Given the description of an element on the screen output the (x, y) to click on. 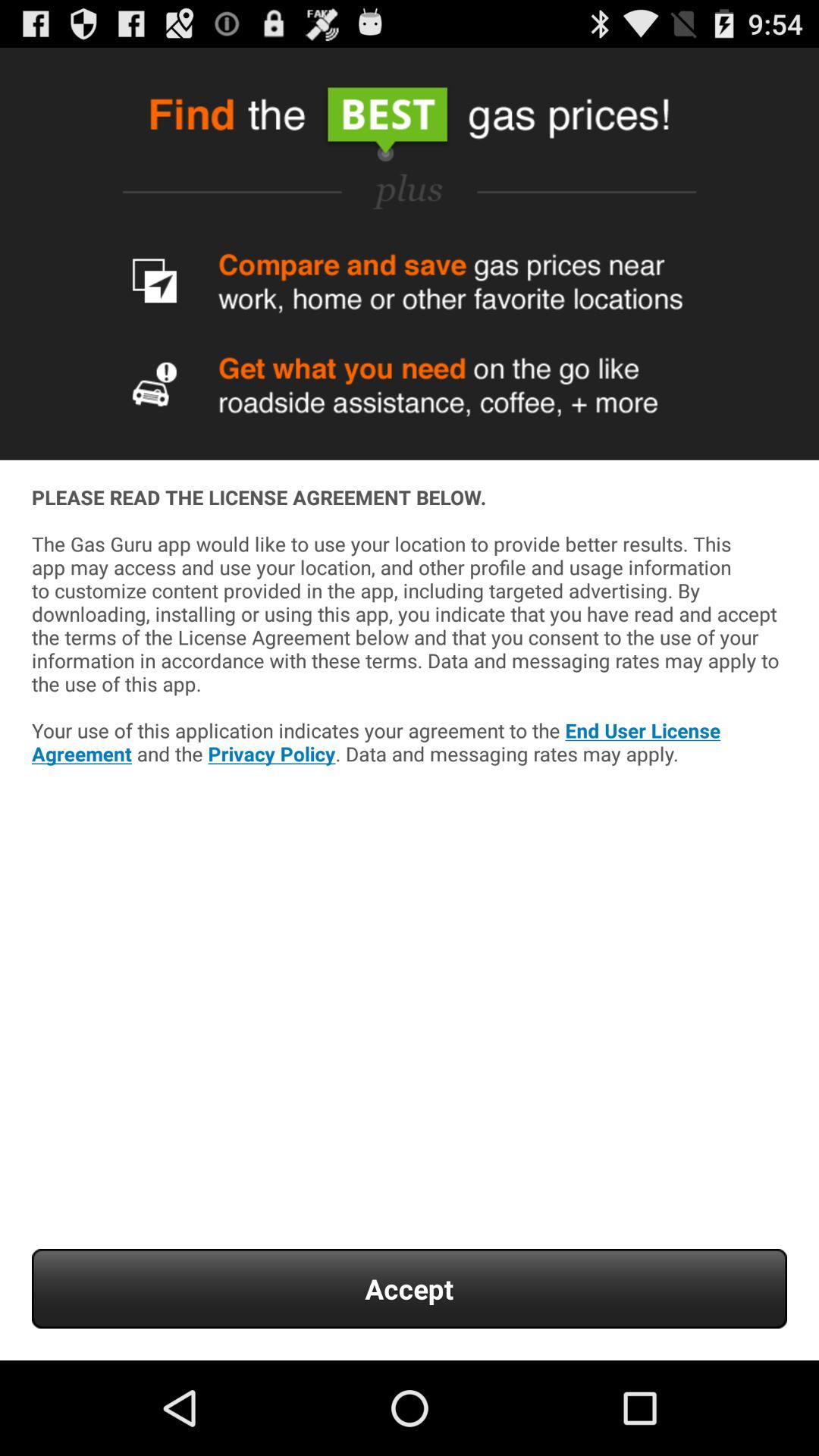
turn on the accept item (409, 1288)
